Given the description of an element on the screen output the (x, y) to click on. 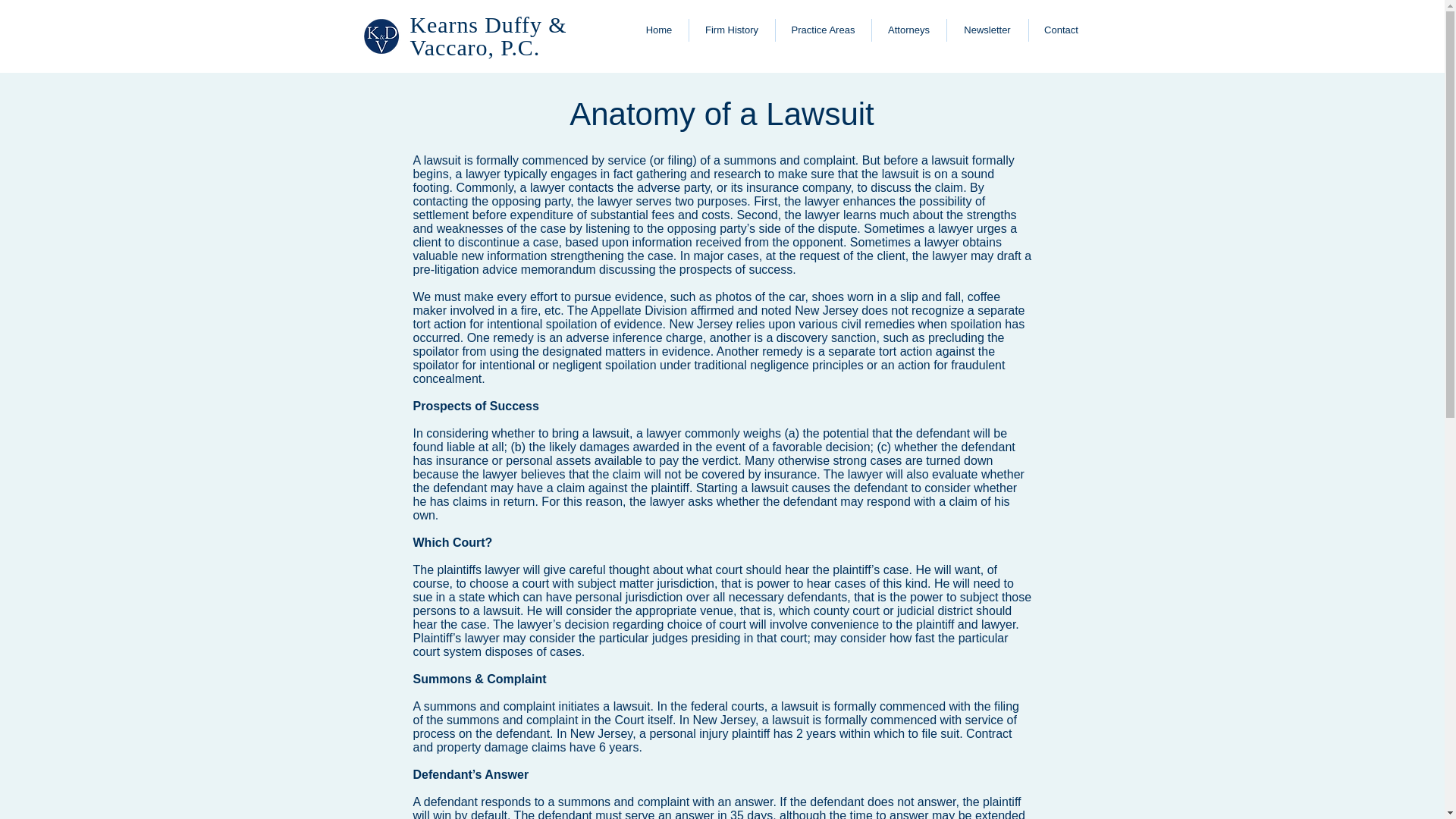
Contact (1060, 29)
Newsletter (986, 29)
Attorneys (907, 29)
Firm History (731, 29)
Practice Areas (822, 29)
Home (657, 29)
